Given the description of an element on the screen output the (x, y) to click on. 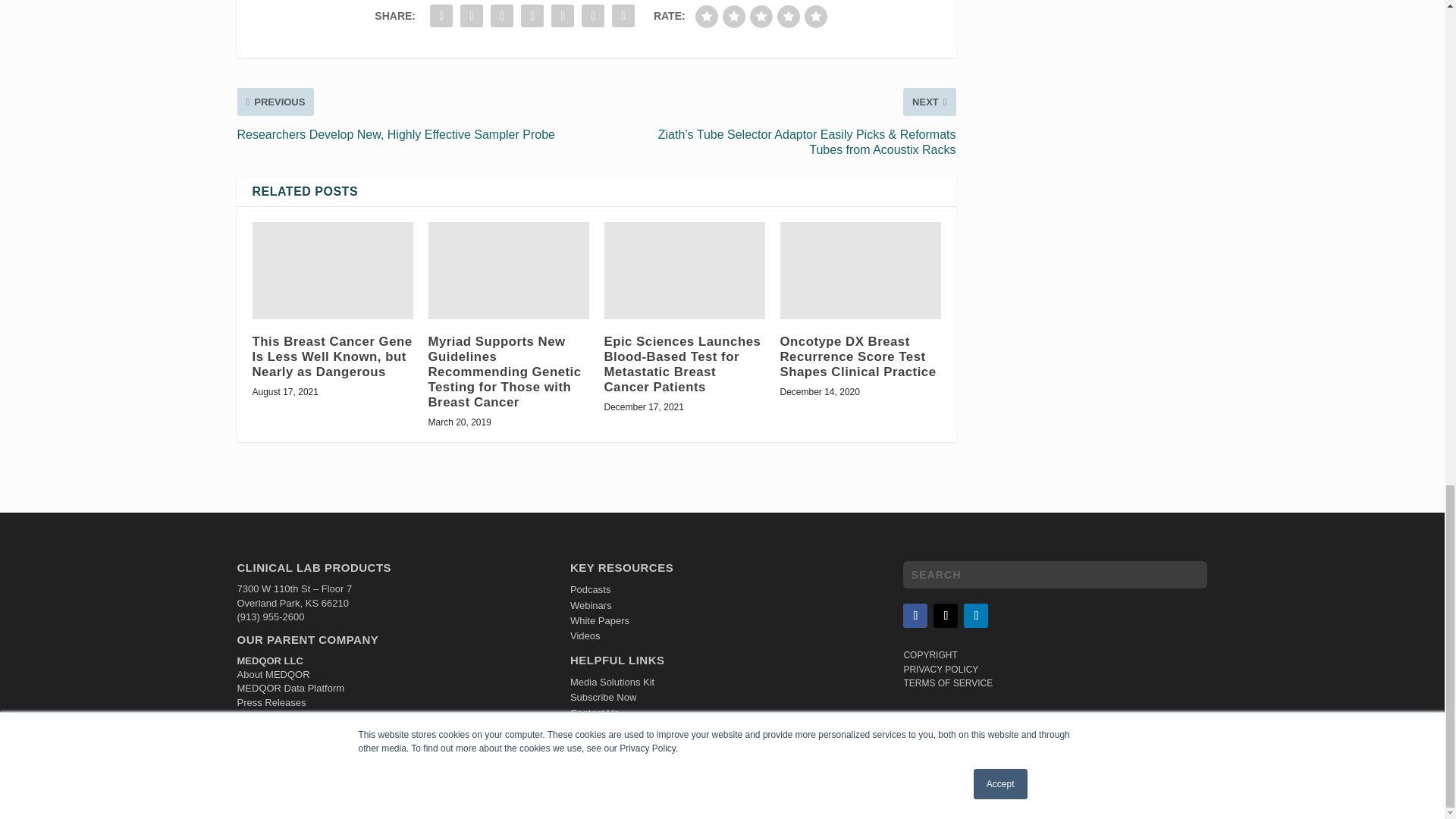
good (788, 15)
gorgeous (816, 15)
bad (706, 15)
regular (761, 15)
poor (733, 15)
